Given the description of an element on the screen output the (x, y) to click on. 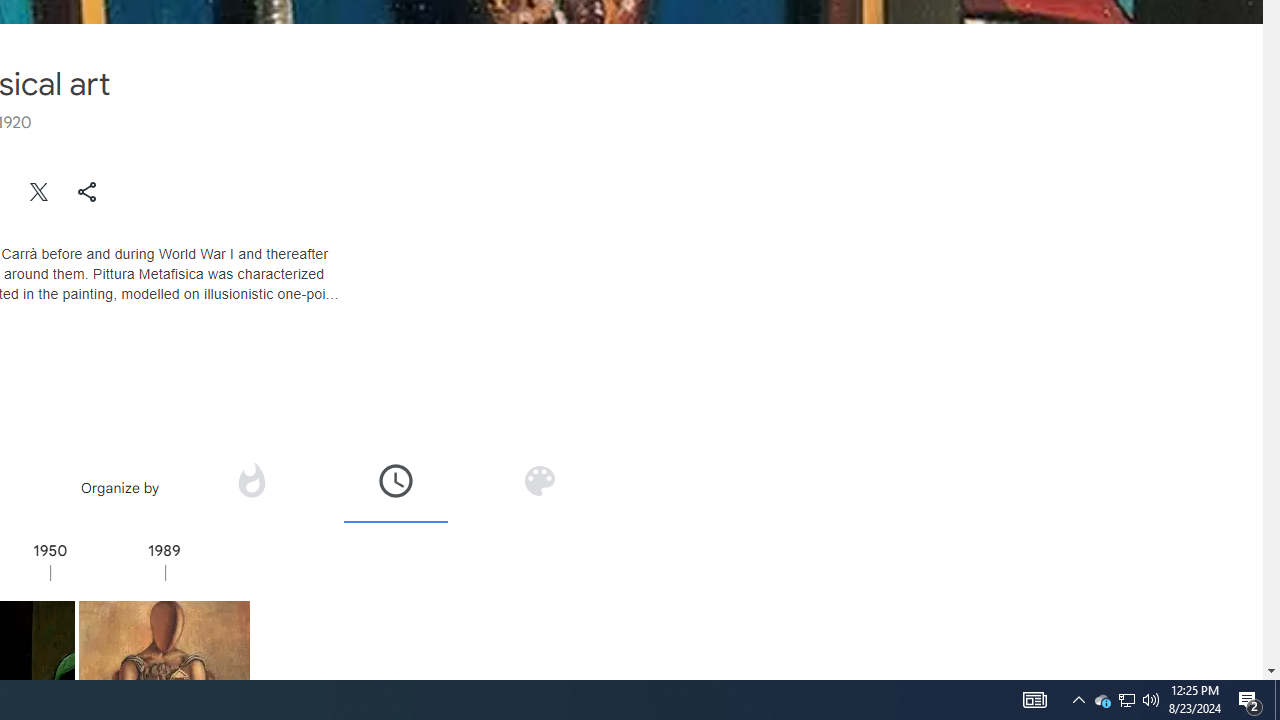
Share on Twitter (39, 191)
Organize by time (395, 480)
Organize by popularity (250, 480)
Organize by popularity (251, 487)
Organize by color (539, 480)
Organize by time (395, 487)
Organize by color (538, 487)
Share "Metaphysical art" (87, 191)
1950 (107, 572)
